Given the description of an element on the screen output the (x, y) to click on. 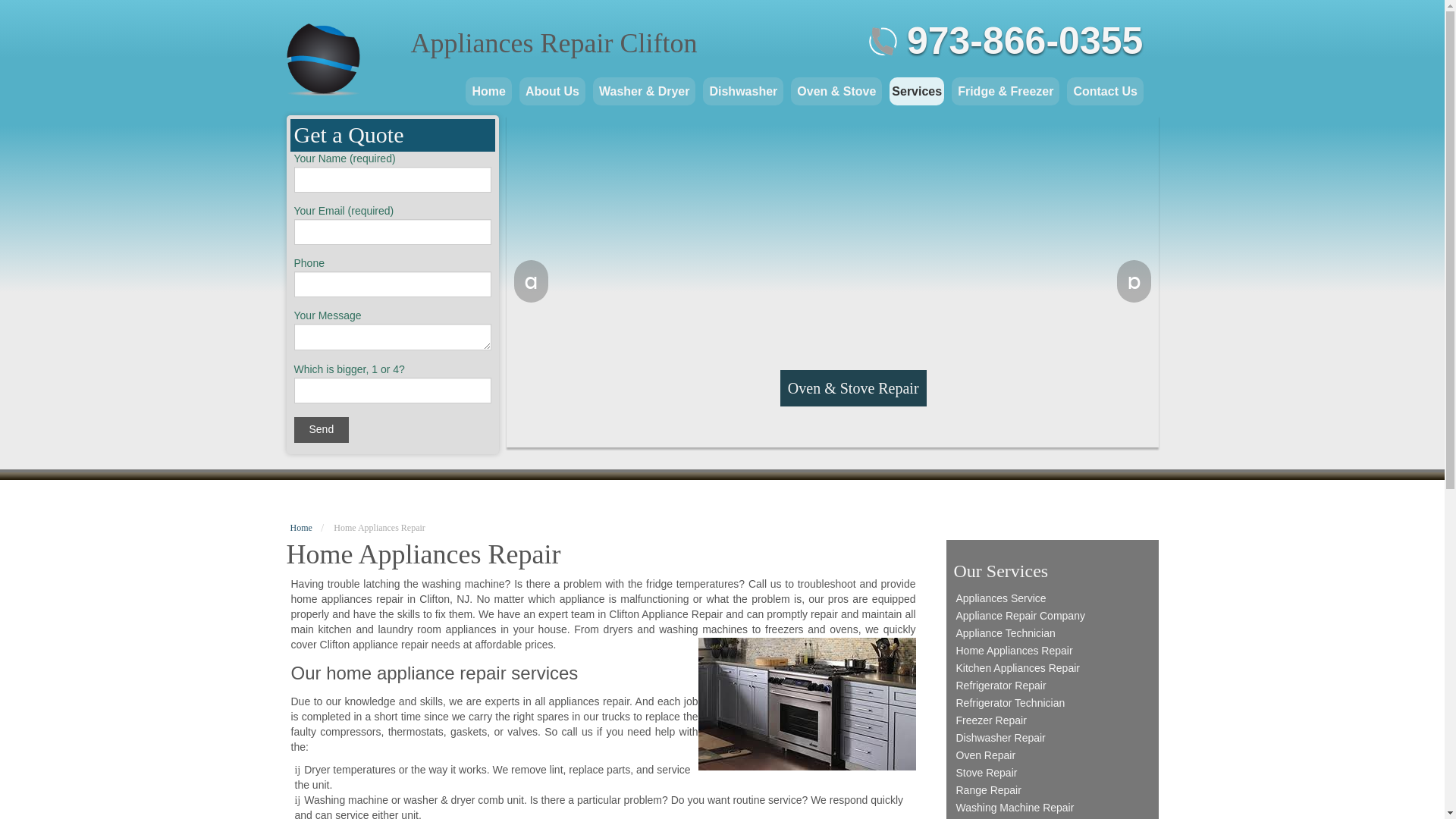
Send (321, 429)
973-866-0355 (1024, 40)
